Given the description of an element on the screen output the (x, y) to click on. 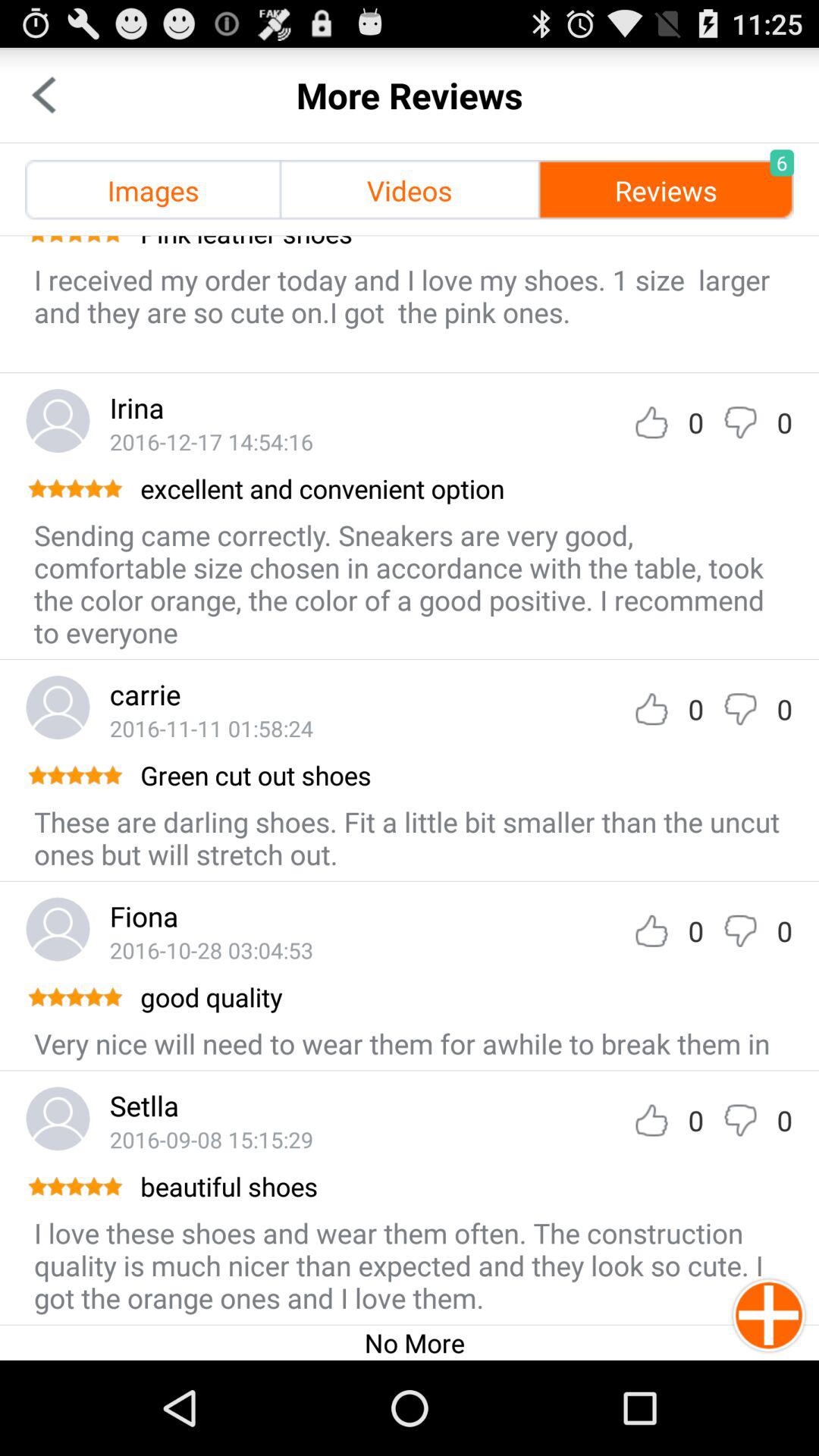
select no more (414, 1342)
